Given the description of an element on the screen output the (x, y) to click on. 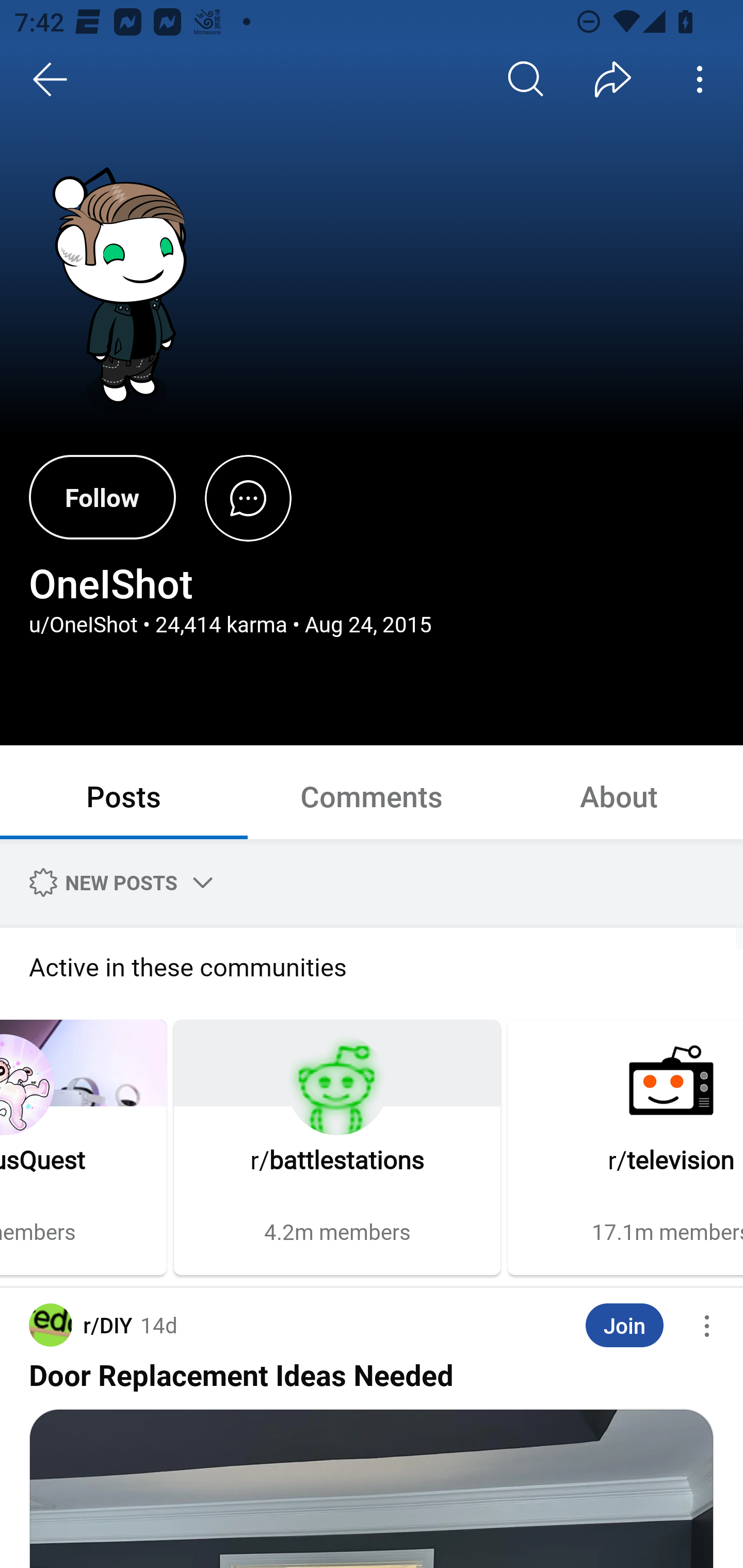
Back (50, 79)
Search profile (525, 79)
Share OneIShot profile (612, 79)
More profile actions (699, 79)
User Avatar (126, 292)
Follow (102, 496)
Send message (248, 497)
Comments (371, 795)
About (619, 795)
NEW POSTS Sort by New posts (117, 881)
r/battlestations 4.2m members 4.2 millions members (336, 1146)
r/television 17.1m members 17.1 millions members (625, 1146)
Avatar r/DIY (80, 1324)
Join (624, 1325)
Overflow menu (706, 1325)
